Given the description of an element on the screen output the (x, y) to click on. 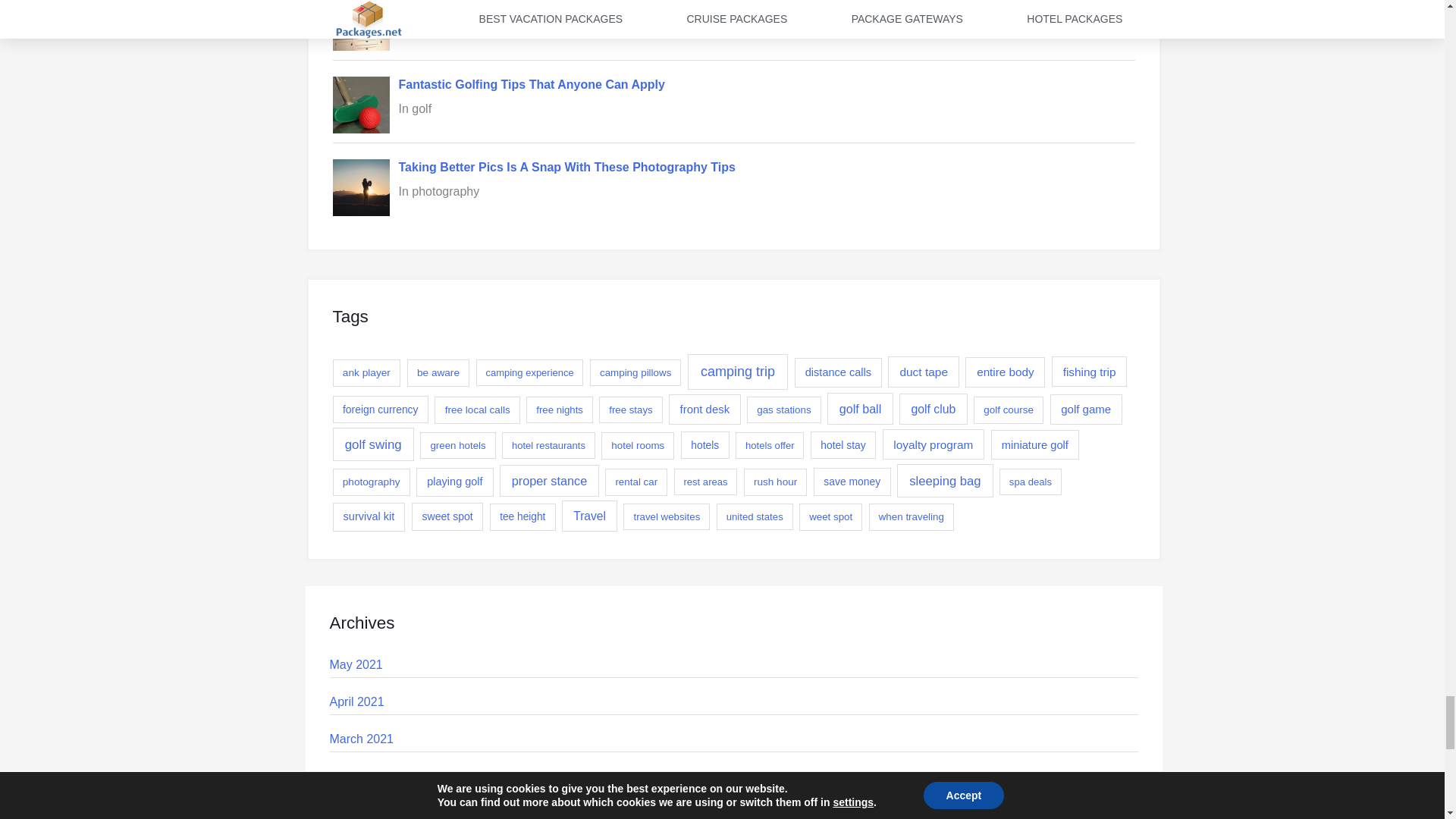
ank player (365, 372)
Taking Better Pics Is A Snap With These Photography Tips (566, 166)
Fantastic Golfing Tips That Anyone Can Apply (531, 83)
camping experience (529, 372)
be aware (438, 372)
Hotel, Motel, Or Inn? Picking The Right Place To Stay (551, 4)
